Given the description of an element on the screen output the (x, y) to click on. 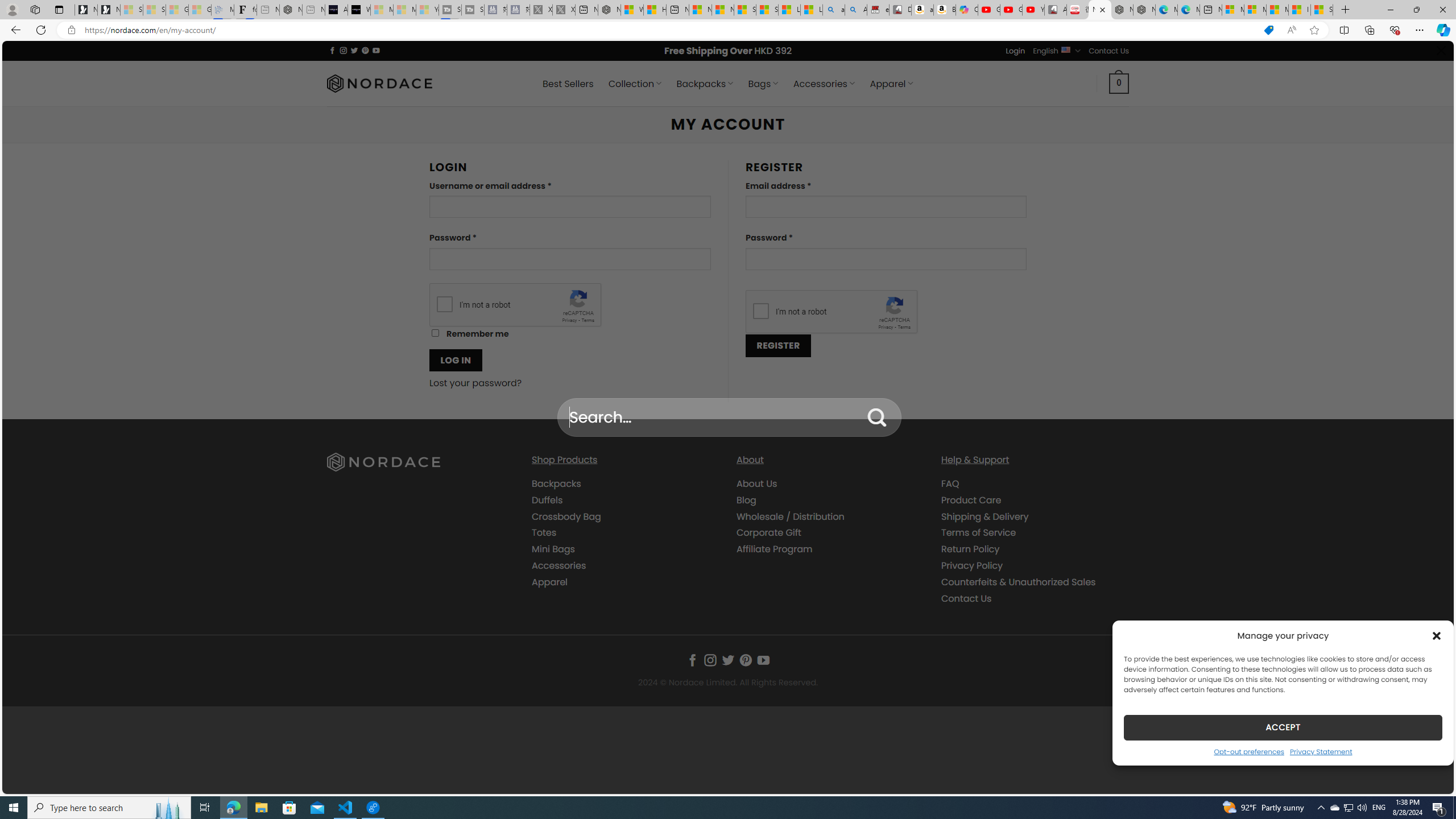
Mini Bags (553, 549)
REGISTER (777, 345)
Nordace - Nordace has arrived Hong Kong (1144, 9)
Newsletter Sign Up (109, 9)
Shipping & Delivery (1034, 516)
Totes (625, 532)
amazon.in/dp/B0CX59H5W7/?tag=gsmcom05-21 (923, 9)
Corporate Gift (830, 532)
amazon - Search (834, 9)
Class: feather feather-x (1440, 50)
